Given the description of an element on the screen output the (x, y) to click on. 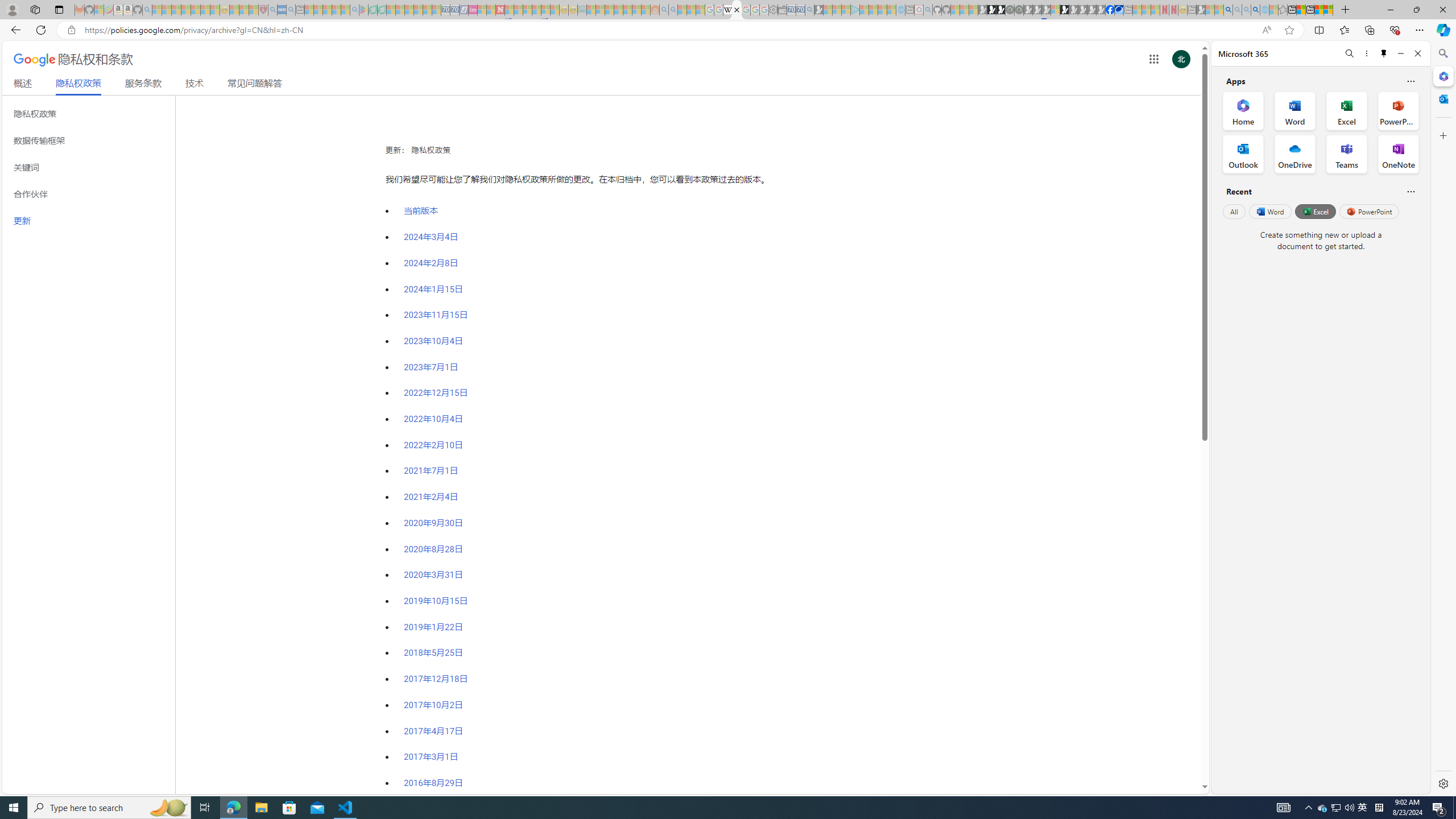
Nordace | Facebook (1109, 9)
